Given the description of an element on the screen output the (x, y) to click on. 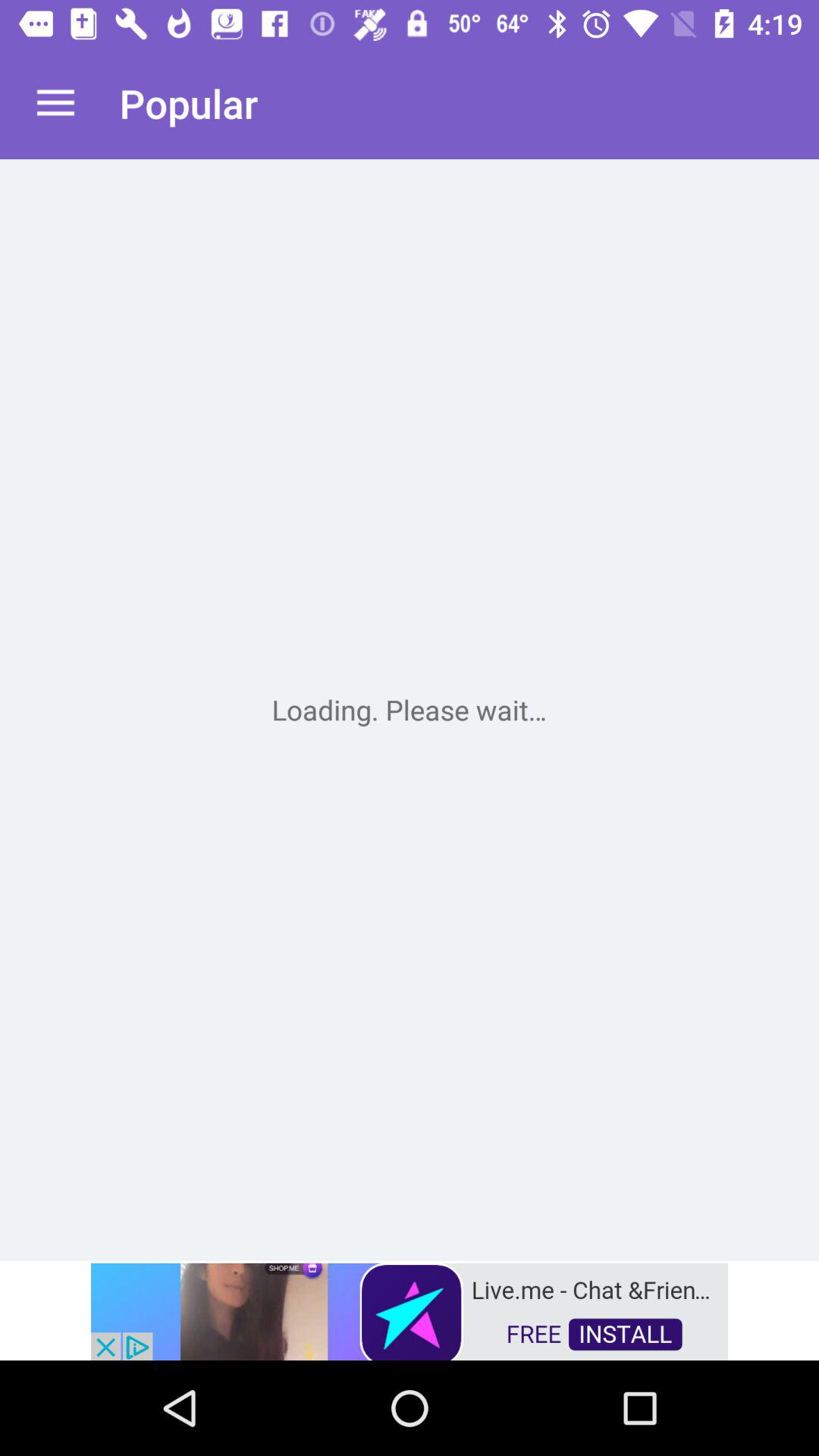
click open (409, 709)
